Given the description of an element on the screen output the (x, y) to click on. 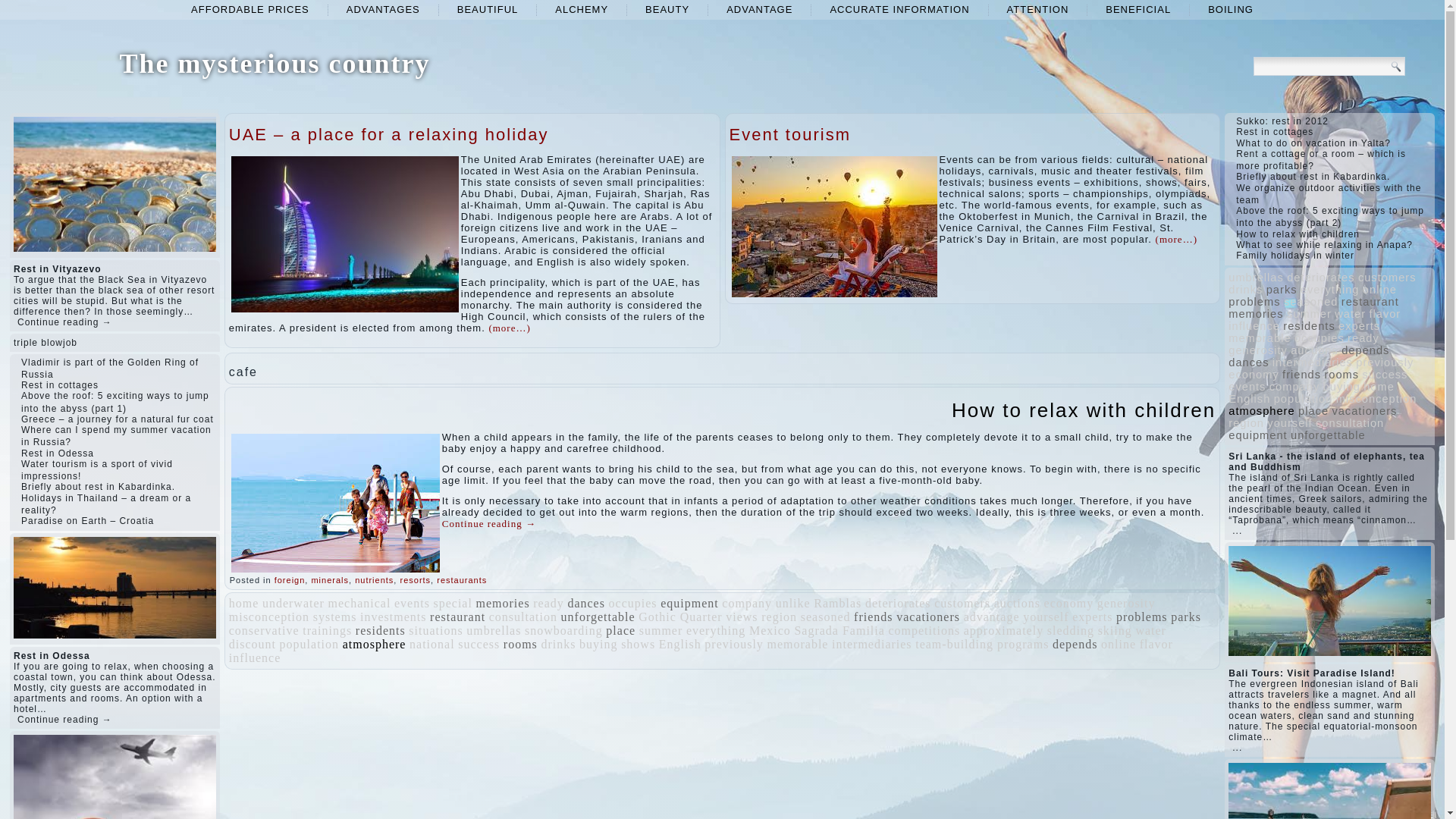
BEAUTIFUL (488, 9)
advantages (383, 9)
minerals (330, 579)
Rest in cottages (60, 385)
nutrients (374, 579)
Water tourism is a sport of vivid impressions! (97, 469)
accurate information (898, 9)
ATTENTION (1038, 9)
beauty (667, 9)
alchemy (581, 9)
